Given the description of an element on the screen output the (x, y) to click on. 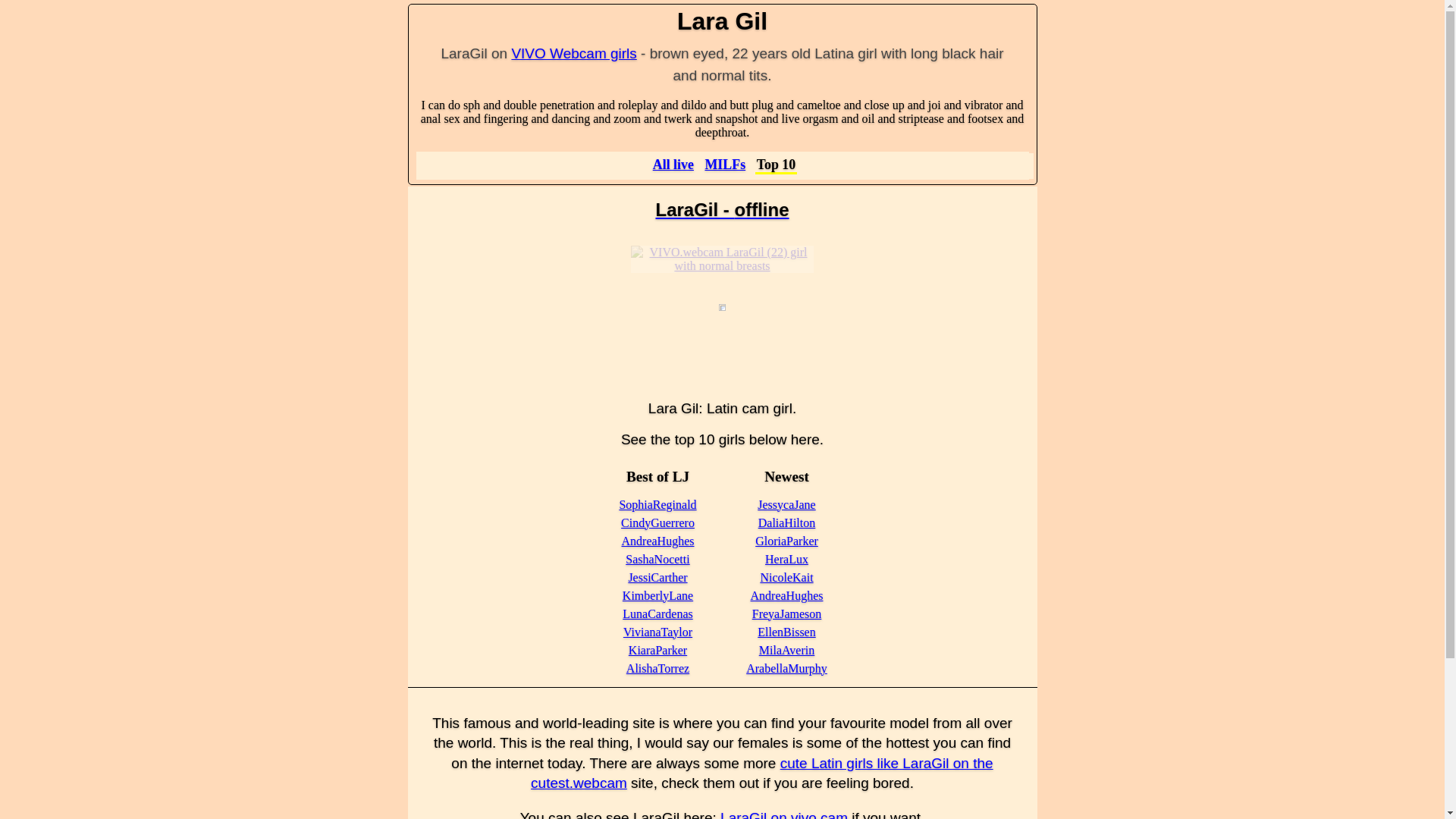
home (672, 163)
CindyGuerrero (657, 522)
SophiaReginald (656, 504)
ArabellaMurphy (786, 667)
LunaCardenas (658, 613)
all MILFs online now. (724, 163)
JessiCarther (657, 576)
VivianaTaylor (658, 631)
DaliaHilton (786, 522)
LaraGil - offline (721, 209)
AndreaHughes (787, 594)
All live (672, 163)
NicoleKait (786, 576)
AlishaTorrez (657, 667)
KimberlyLane (658, 594)
